Given the description of an element on the screen output the (x, y) to click on. 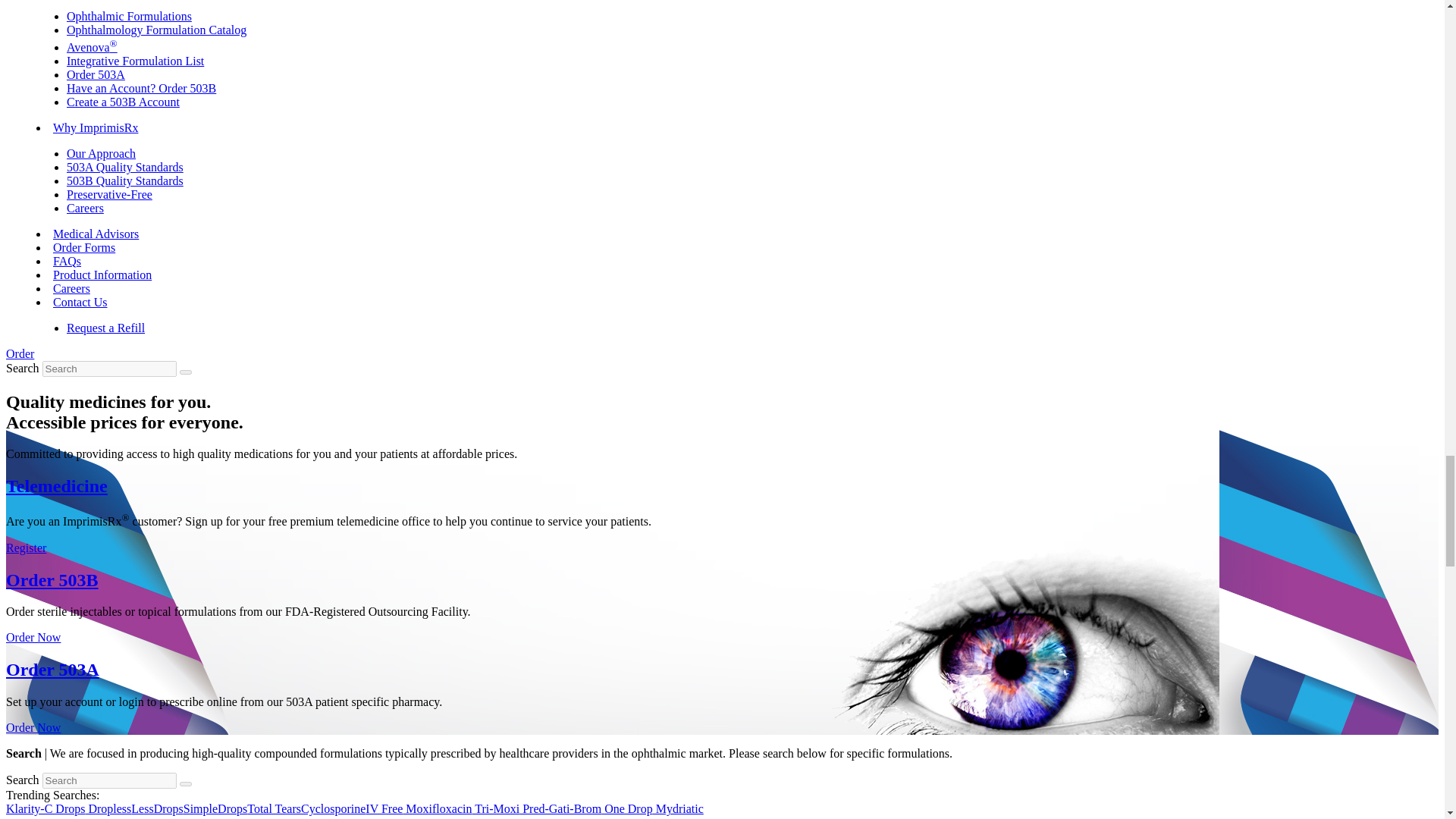
Order 503A (95, 74)
Integrative Formulation List (134, 60)
Ophthalmology Formulation Catalog (156, 29)
Ophthalmic Formulations (129, 15)
Have an Account? Order 503B (140, 88)
Our Approach (100, 153)
Create a 503B Account (122, 101)
503A Quality Standards (124, 166)
Why ImprimisRx (95, 127)
